Given the description of an element on the screen output the (x, y) to click on. 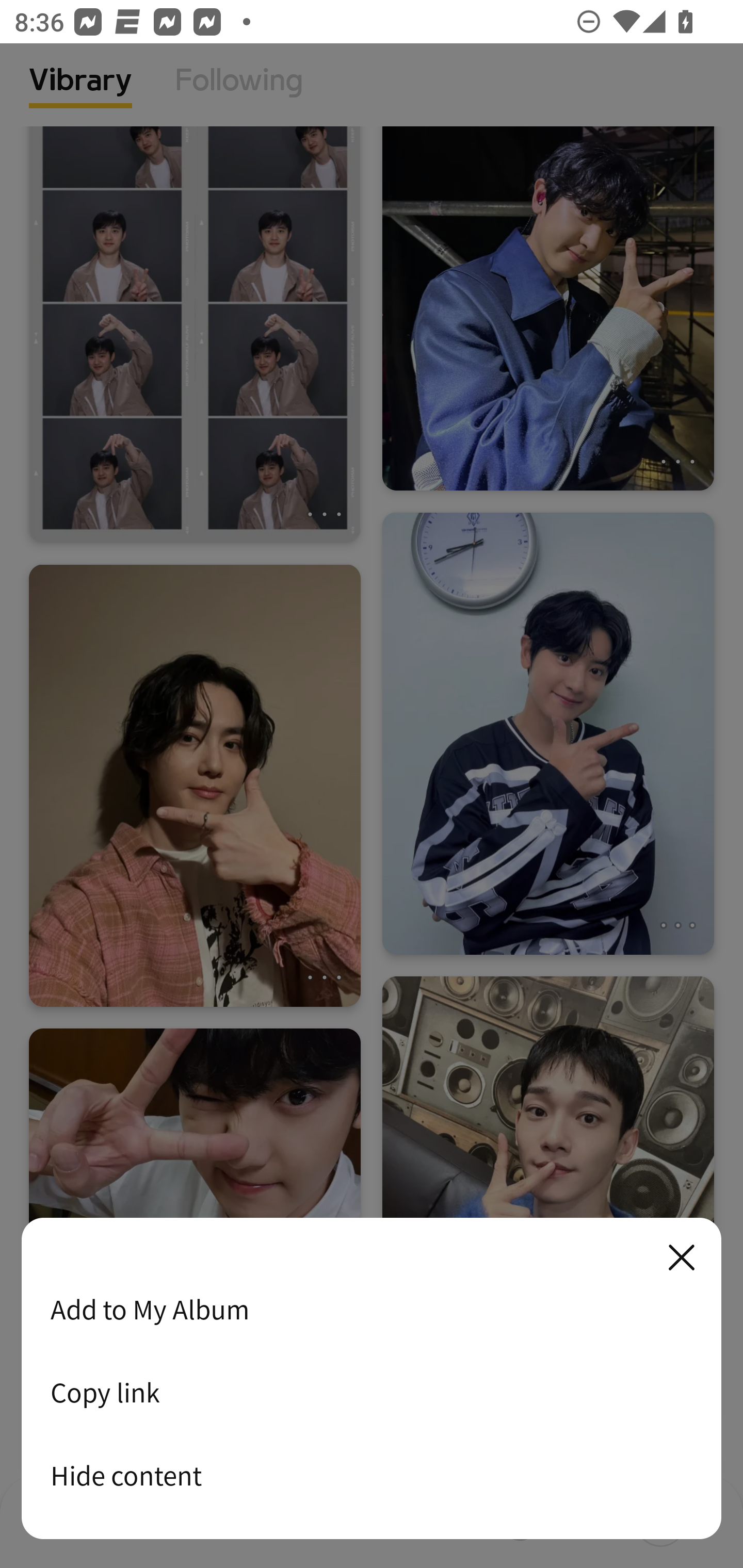
Add to My Album Copy link Hide content (371, 1378)
Add to My Album (371, 1308)
Copy link (371, 1391)
Hide content (371, 1474)
